Given the description of an element on the screen output the (x, y) to click on. 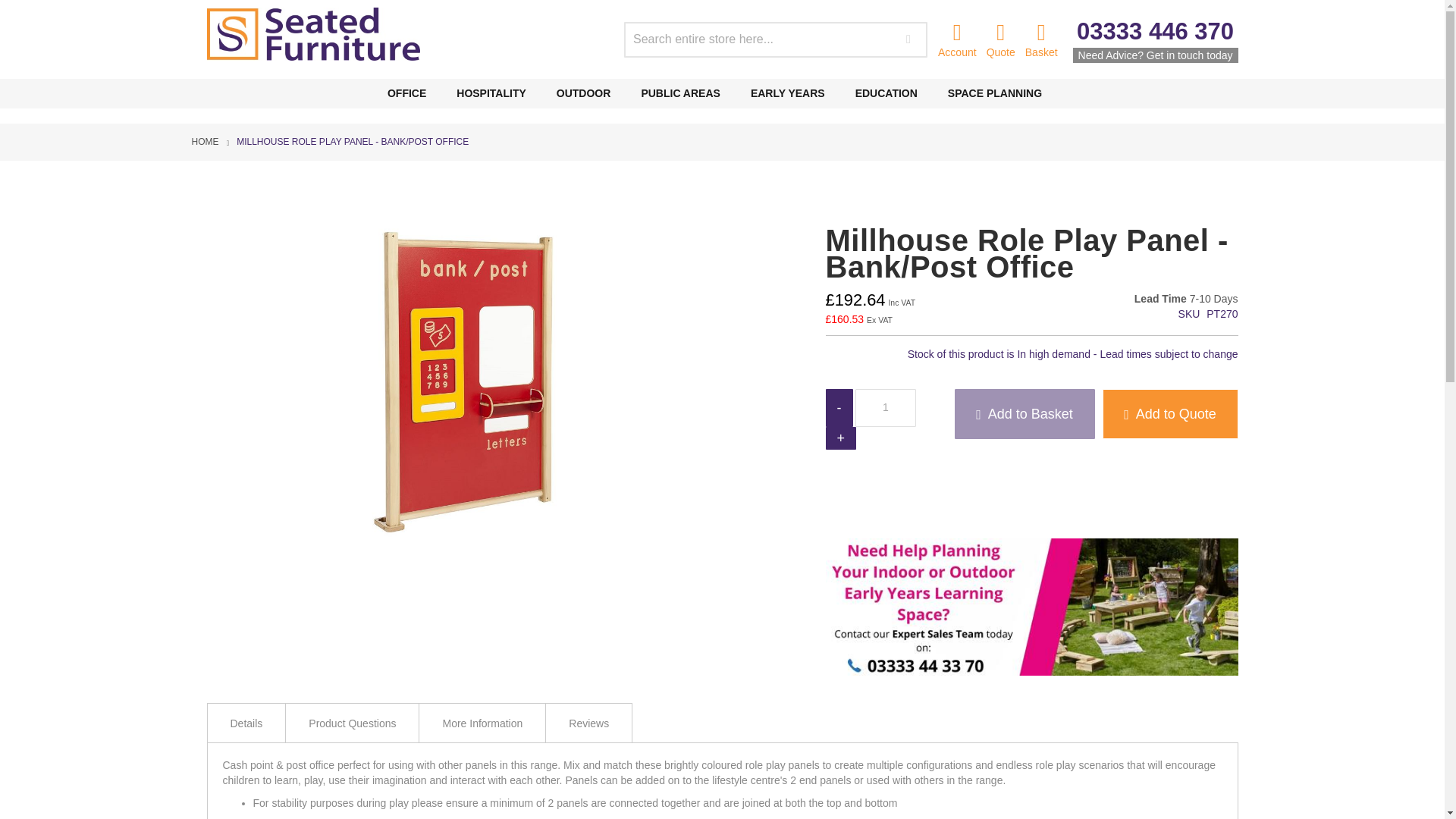
1 (885, 407)
Seated Furniture (313, 33)
OFFICE (414, 93)
Go to Home Page (204, 141)
Qty (885, 407)
Seated Furniture (317, 33)
03333 446 370 (1155, 31)
Add to Quote (1170, 413)
Add to Basket (1023, 413)
